Given the description of an element on the screen output the (x, y) to click on. 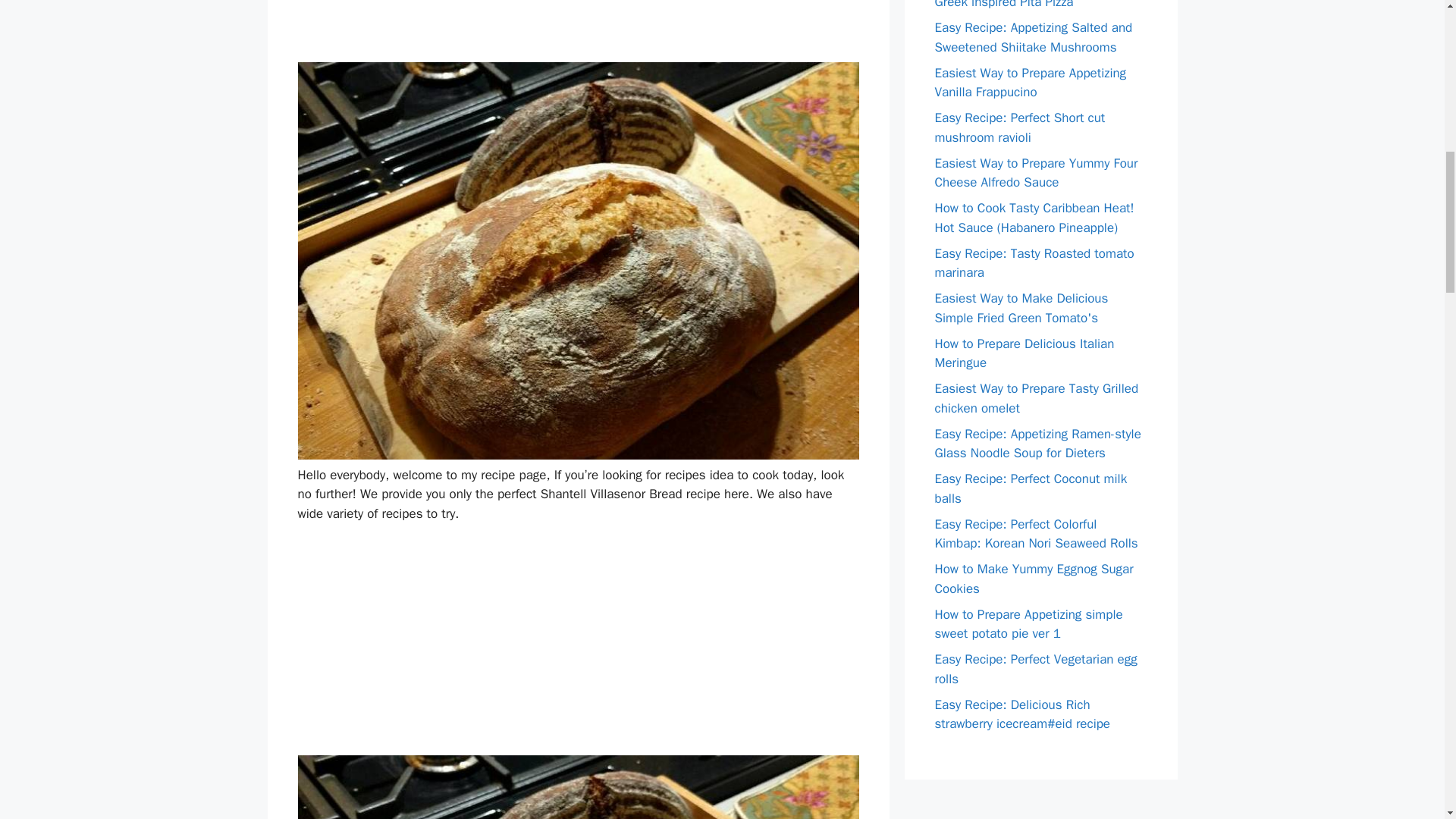
Advertisement (578, 648)
Advertisement (578, 31)
